Given the description of an element on the screen output the (x, y) to click on. 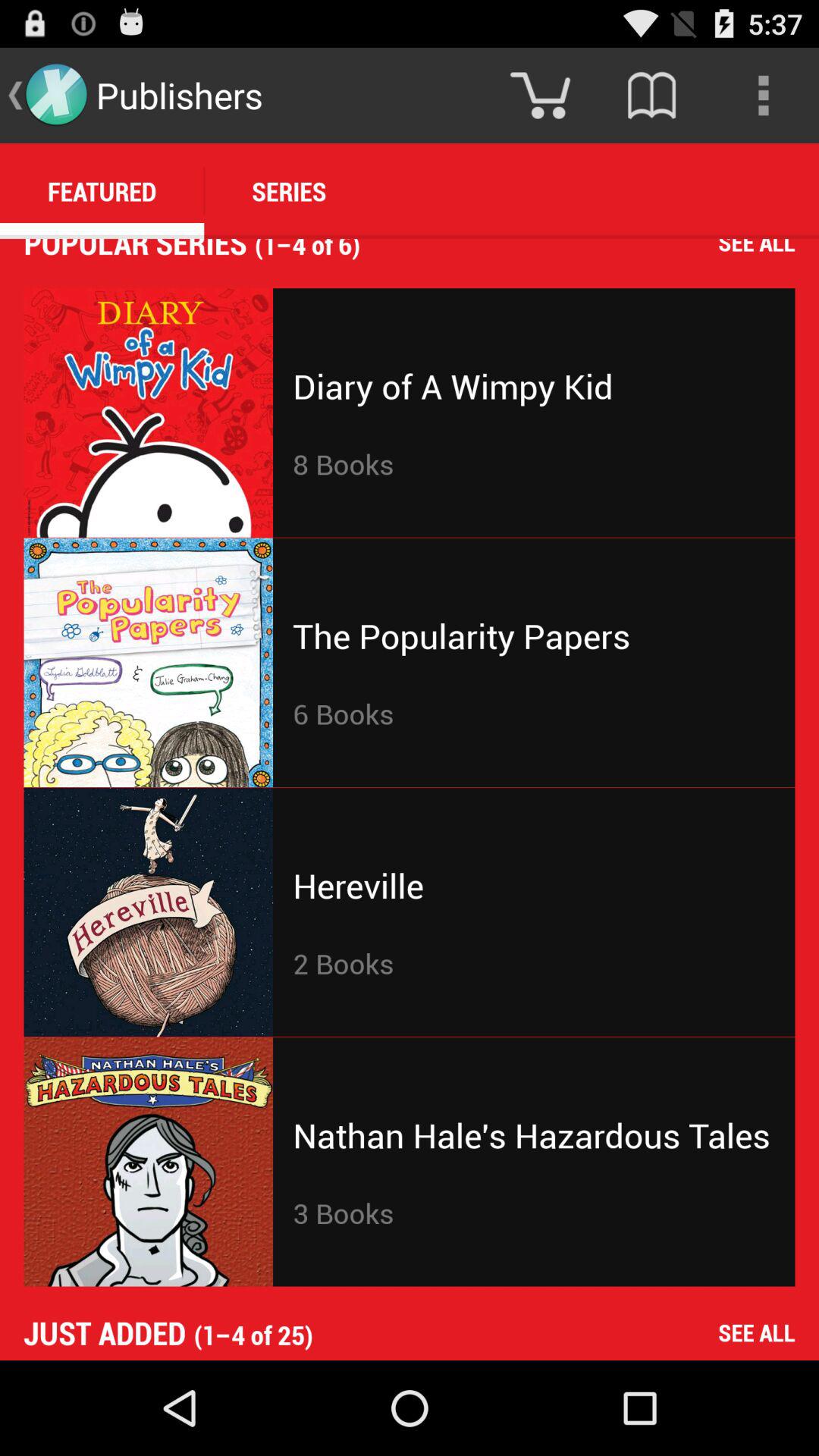
flip until the featured icon (102, 190)
